Given the description of an element on the screen output the (x, y) to click on. 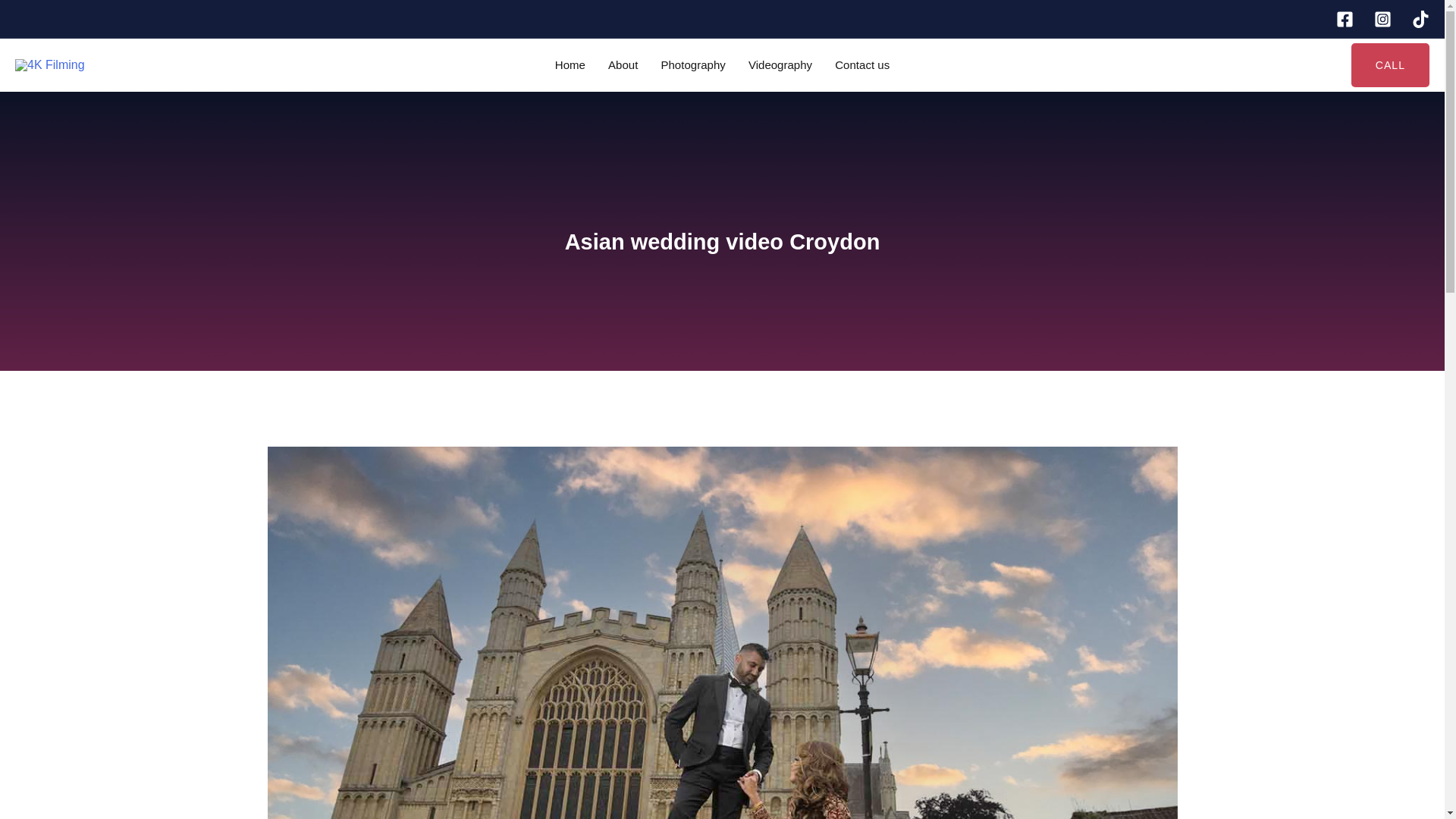
Home (569, 64)
Videography (780, 64)
About (622, 64)
Photography (692, 64)
CALL (1390, 64)
Contact us (862, 64)
